Given the description of an element on the screen output the (x, y) to click on. 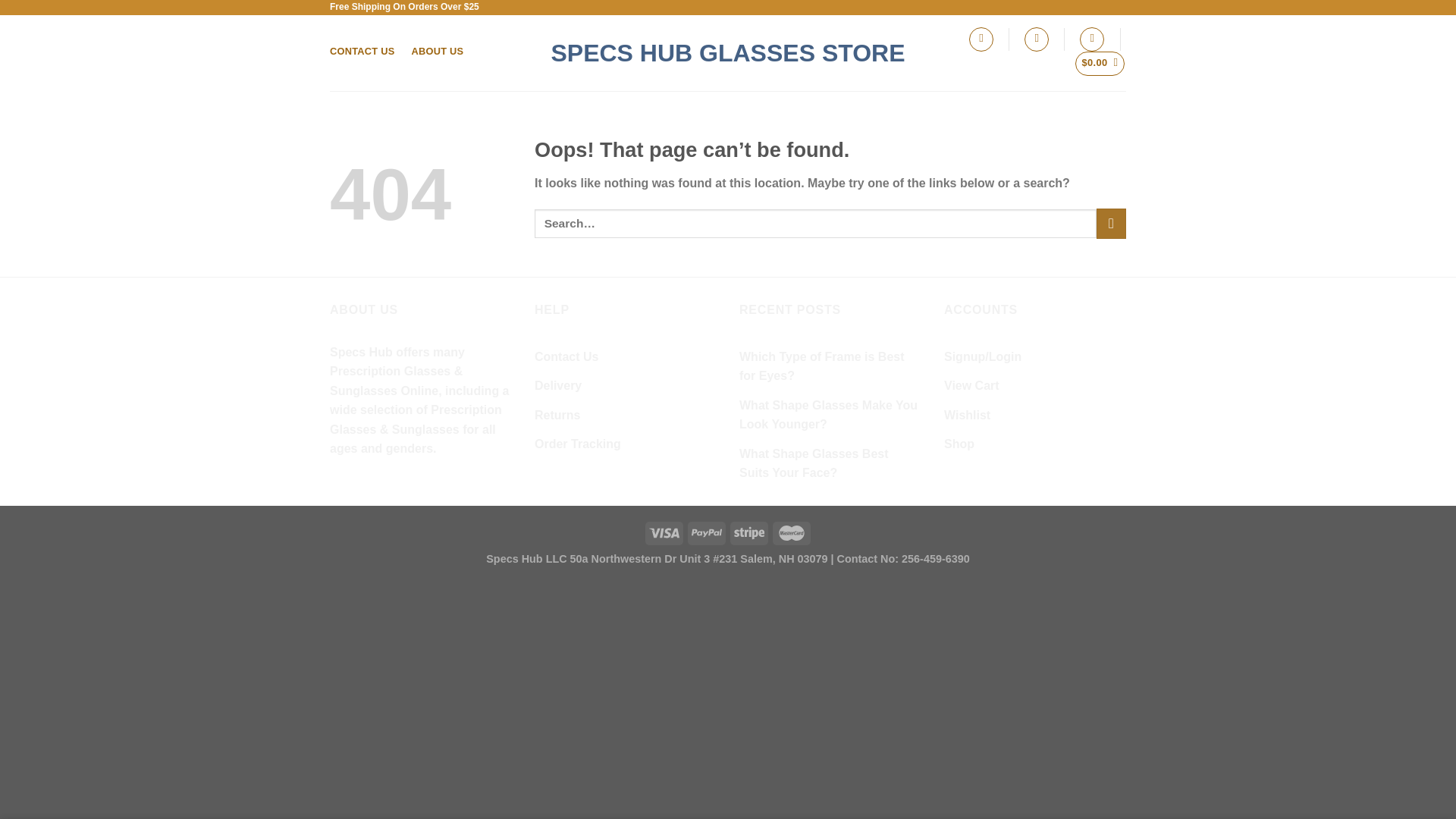
Contact Us (566, 357)
Delivery (557, 385)
Wishlist (966, 415)
Which Type of Frame is Best for Eyes? (830, 366)
CONTACT US (362, 50)
SPECS HUB GLASSES STORE (728, 52)
Order Tracking (577, 443)
Specs Hub Glasses Store (728, 52)
What Shape Glasses Best Suits Your Face? (830, 463)
Basket (1100, 63)
